Given the description of an element on the screen output the (x, y) to click on. 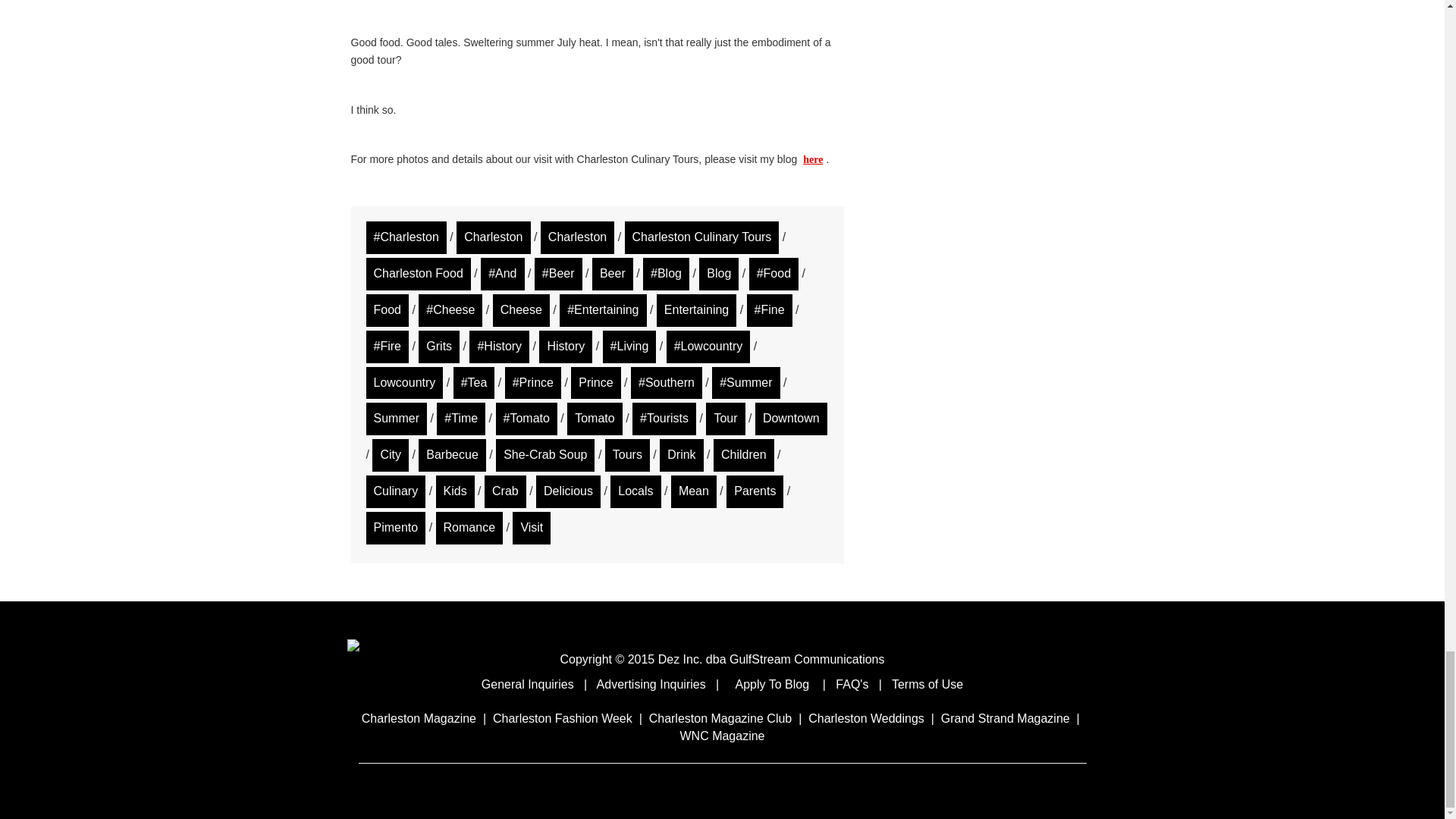
here (812, 159)
